Given the description of an element on the screen output the (x, y) to click on. 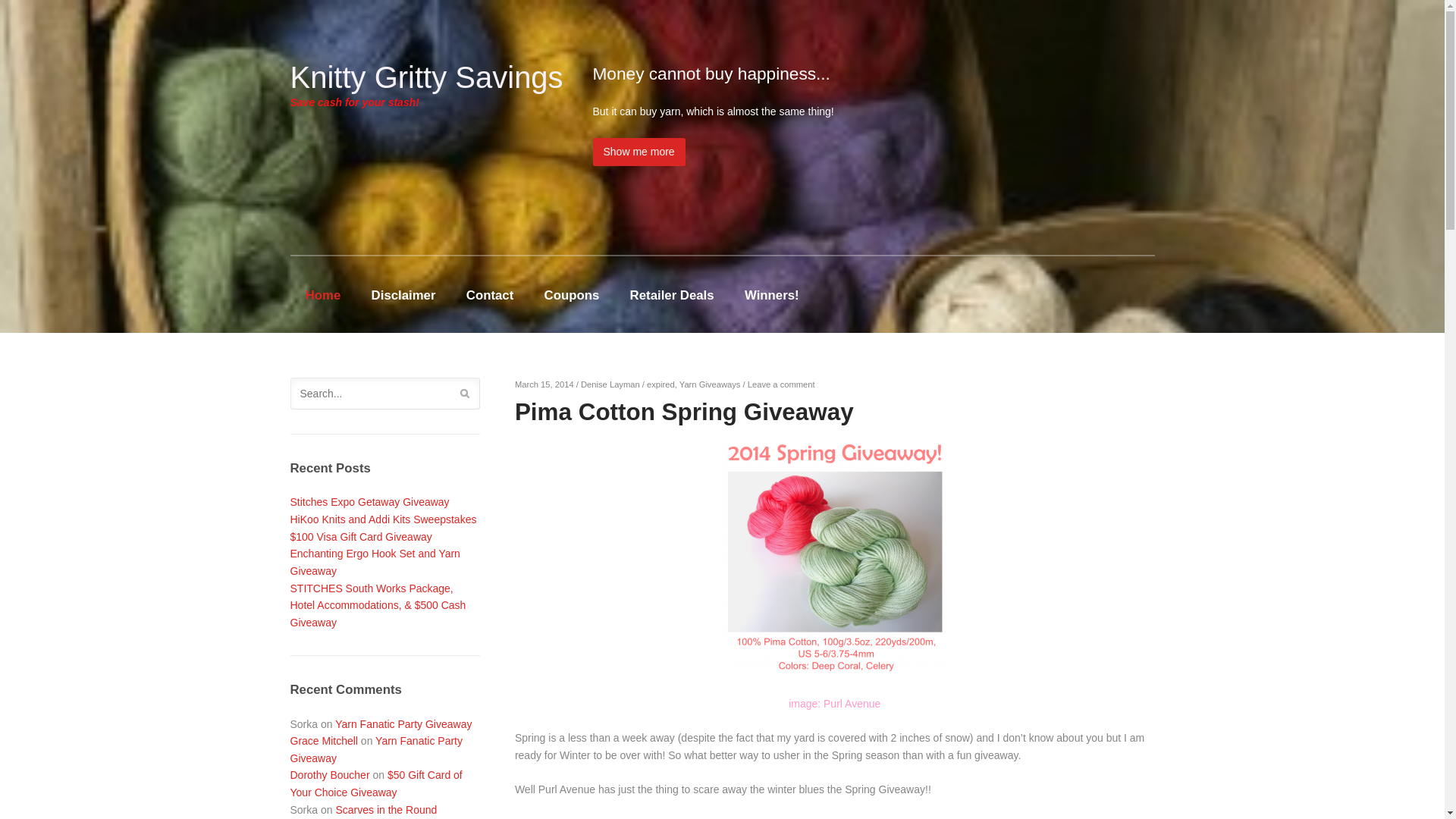
Denise Layman (610, 384)
Knitty Gritty Savings (425, 77)
Show me more (638, 152)
Stitches Expo Getaway Giveaway (368, 501)
Home (322, 292)
Disclaimer (402, 292)
Search (465, 395)
HiKoo Knits and Addi Kits Sweepstakes (382, 519)
Advertisement (976, 227)
Search (465, 395)
Posts by Denise Layman (610, 384)
Coupons (571, 292)
Search (465, 395)
Winners! (771, 292)
Contact (490, 292)
